Given the description of an element on the screen output the (x, y) to click on. 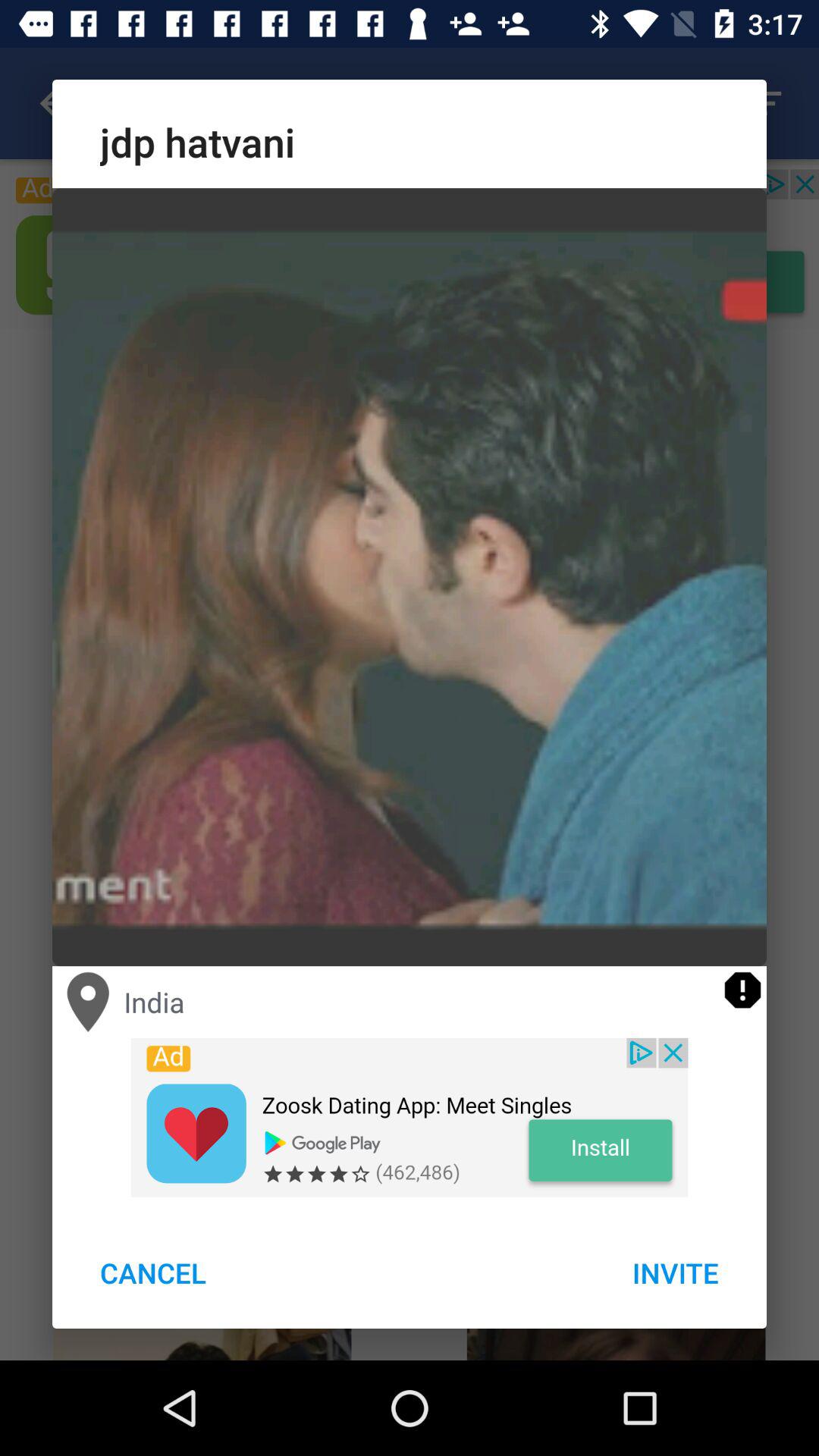
advertisement link (409, 1117)
